Given the description of an element on the screen output the (x, y) to click on. 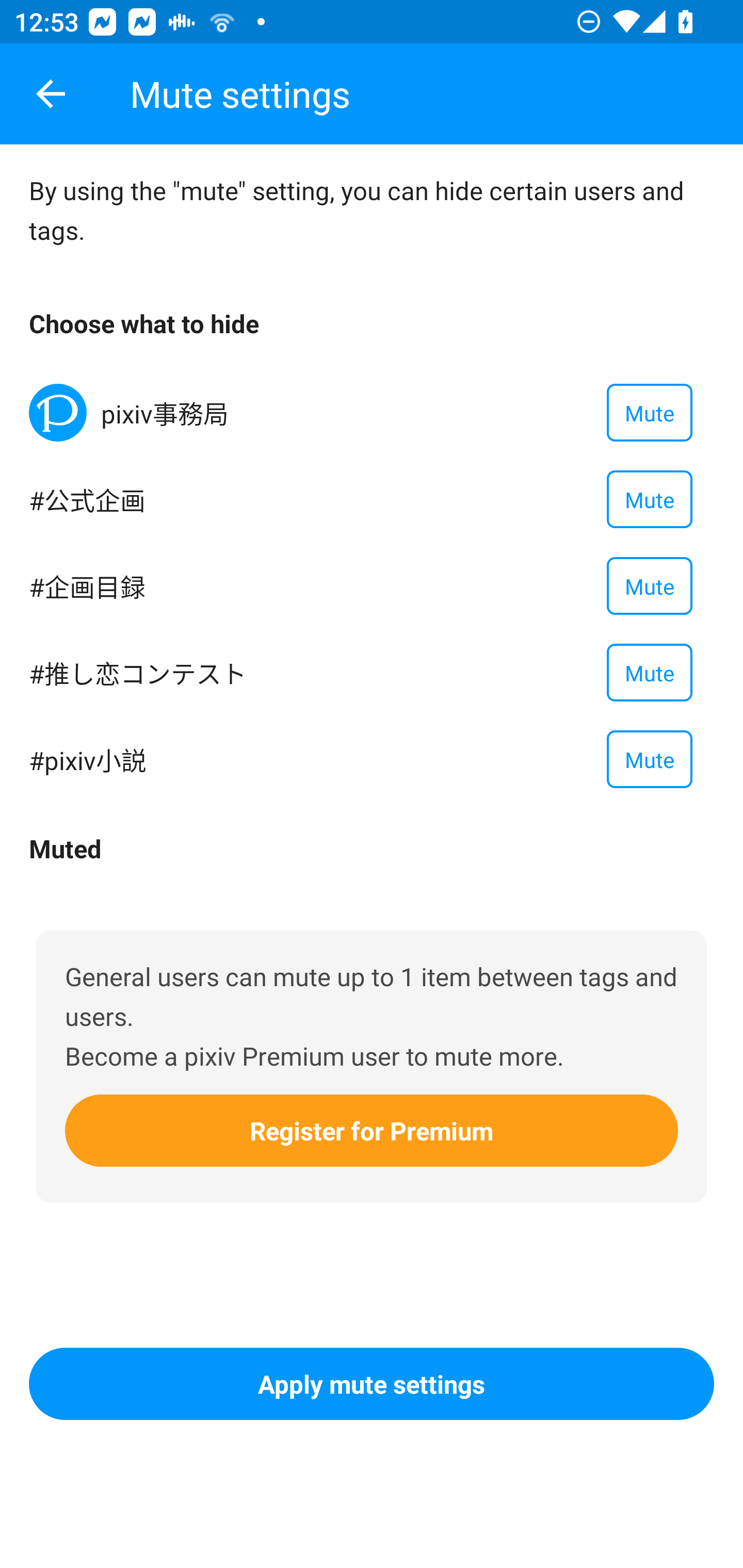
Navigate up (50, 93)
Mute (649, 413)
Mute (649, 499)
Mute (649, 585)
Mute (649, 672)
Mute (649, 759)
Register for Premium (371, 1130)
Apply mute settings (371, 1384)
